Given the description of an element on the screen output the (x, y) to click on. 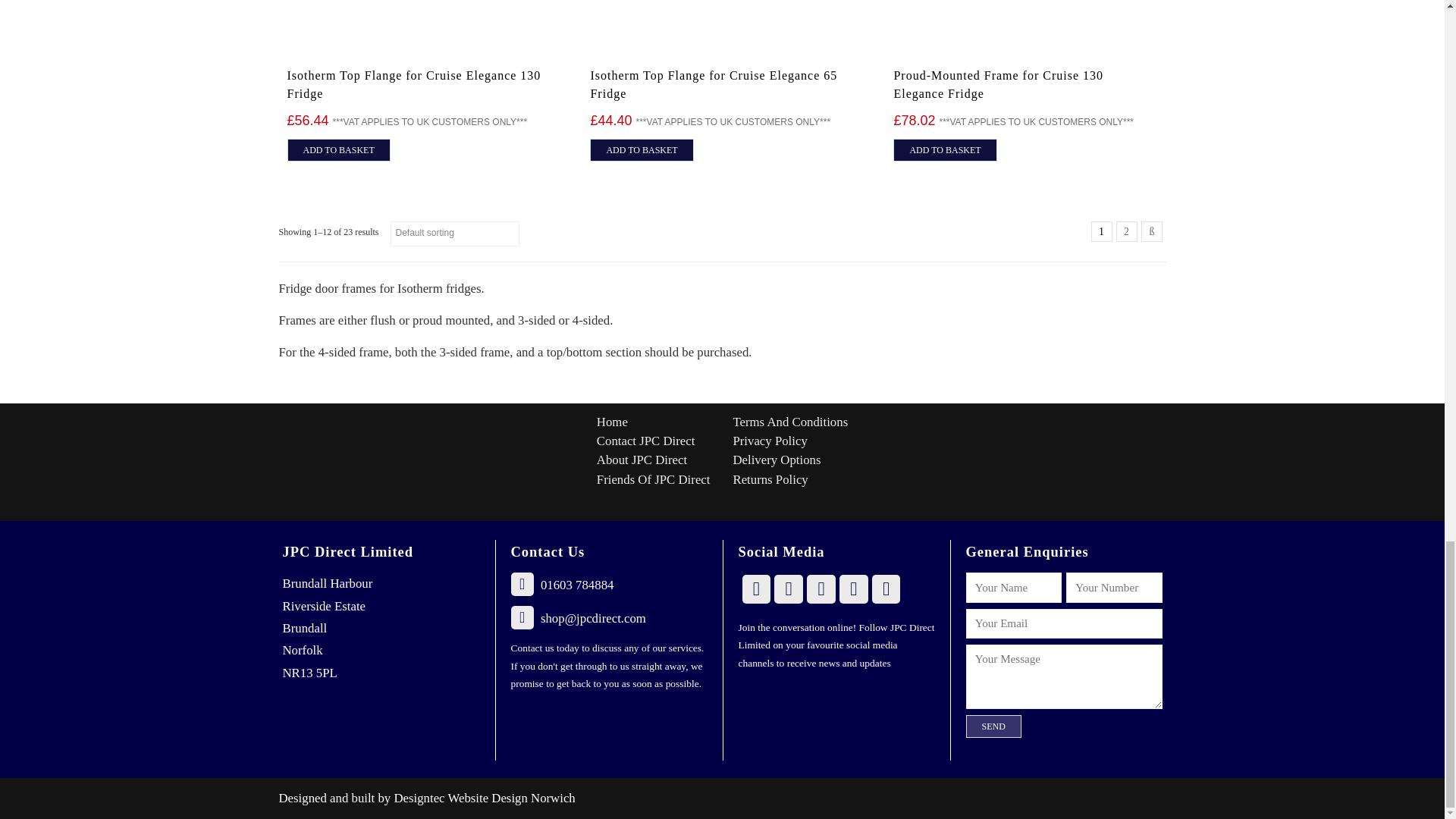
Send (994, 725)
